Given the description of an element on the screen output the (x, y) to click on. 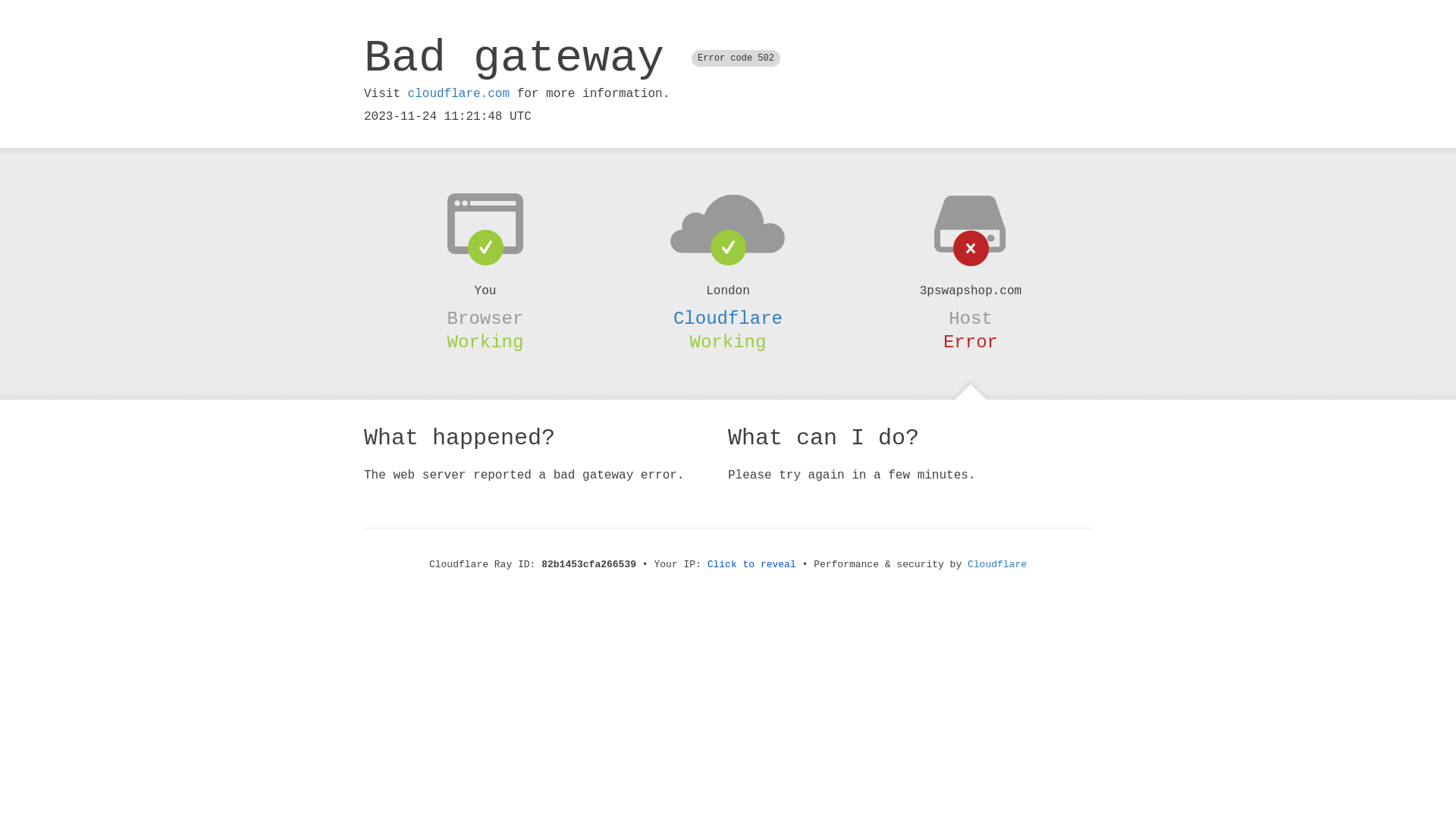
Cloudflare Element type: text (727, 318)
Click to reveal Element type: text (751, 564)
cloudflare.com Element type: text (458, 93)
Cloudflare Element type: text (996, 564)
